Given the description of an element on the screen output the (x, y) to click on. 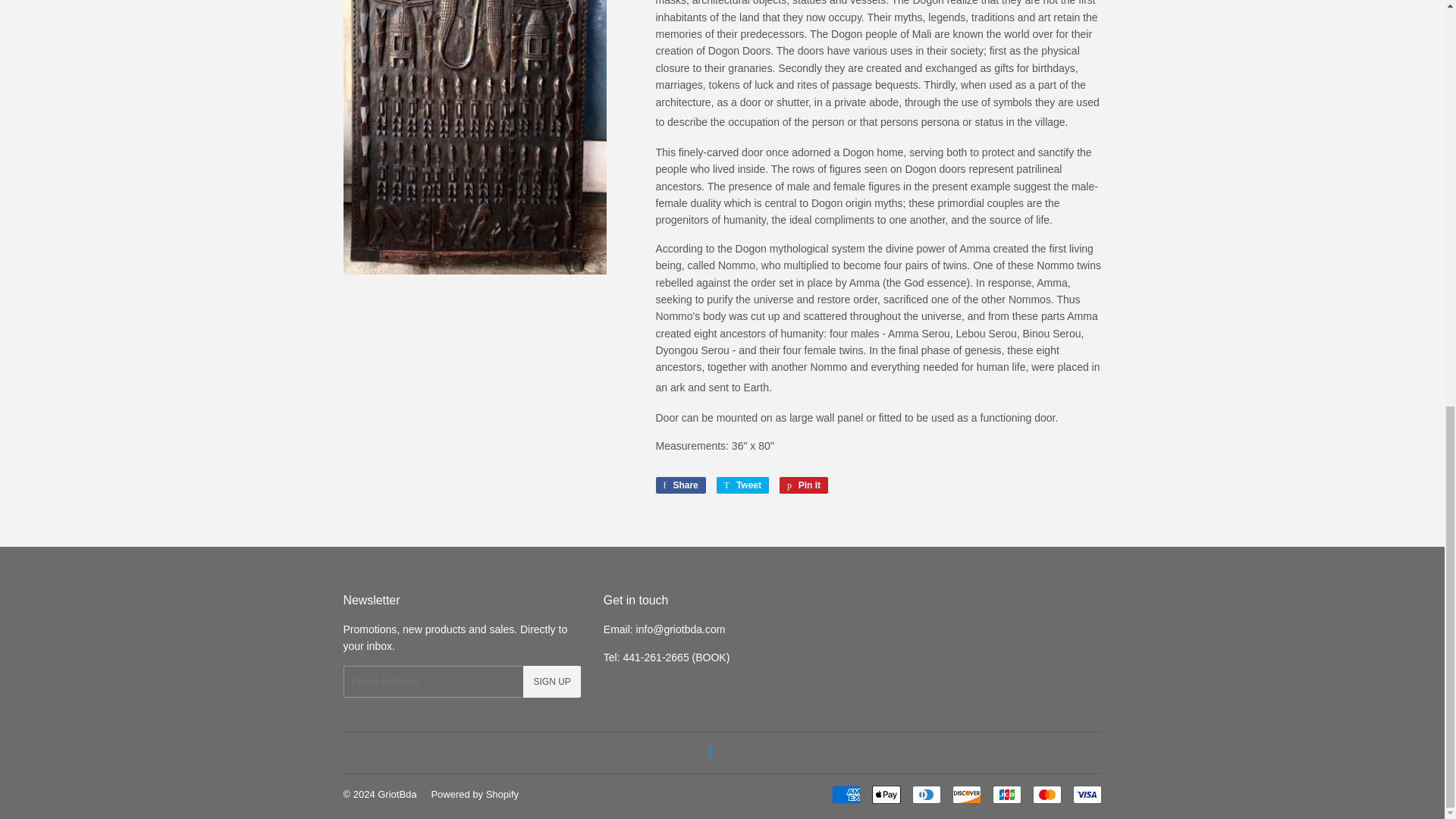
Tweet on Twitter (742, 484)
Share on Facebook (679, 484)
Visa (1085, 794)
Apple Pay (886, 794)
Pin on Pinterest (803, 484)
Diners Club (925, 794)
Discover (966, 794)
Mastercard (1046, 794)
American Express (845, 794)
JCB (1005, 794)
